Given the description of an element on the screen output the (x, y) to click on. 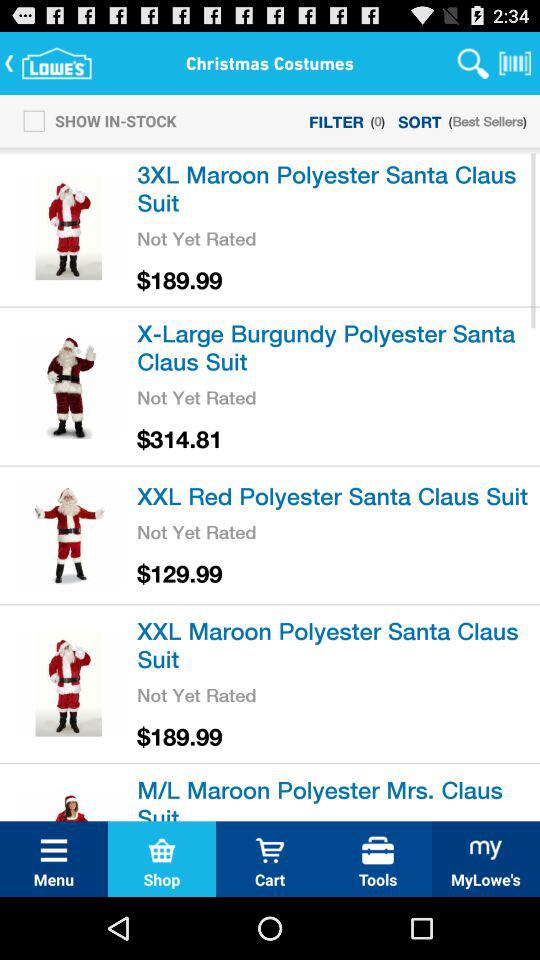
tap the icon next to the (0) item (419, 120)
